Given the description of an element on the screen output the (x, y) to click on. 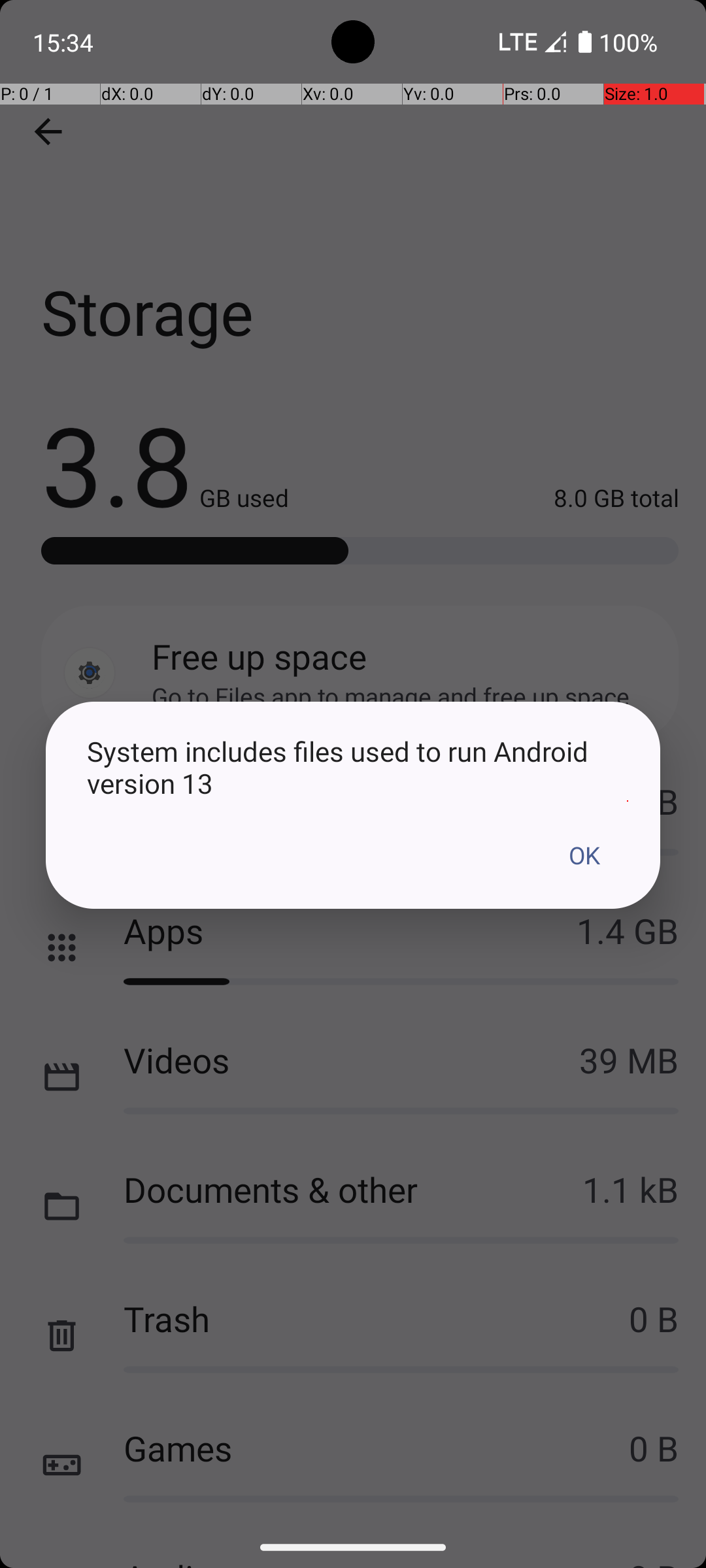
System includes files used to run Android version 13 Element type: android.widget.TextView (352, 766)
